Given the description of an element on the screen output the (x, y) to click on. 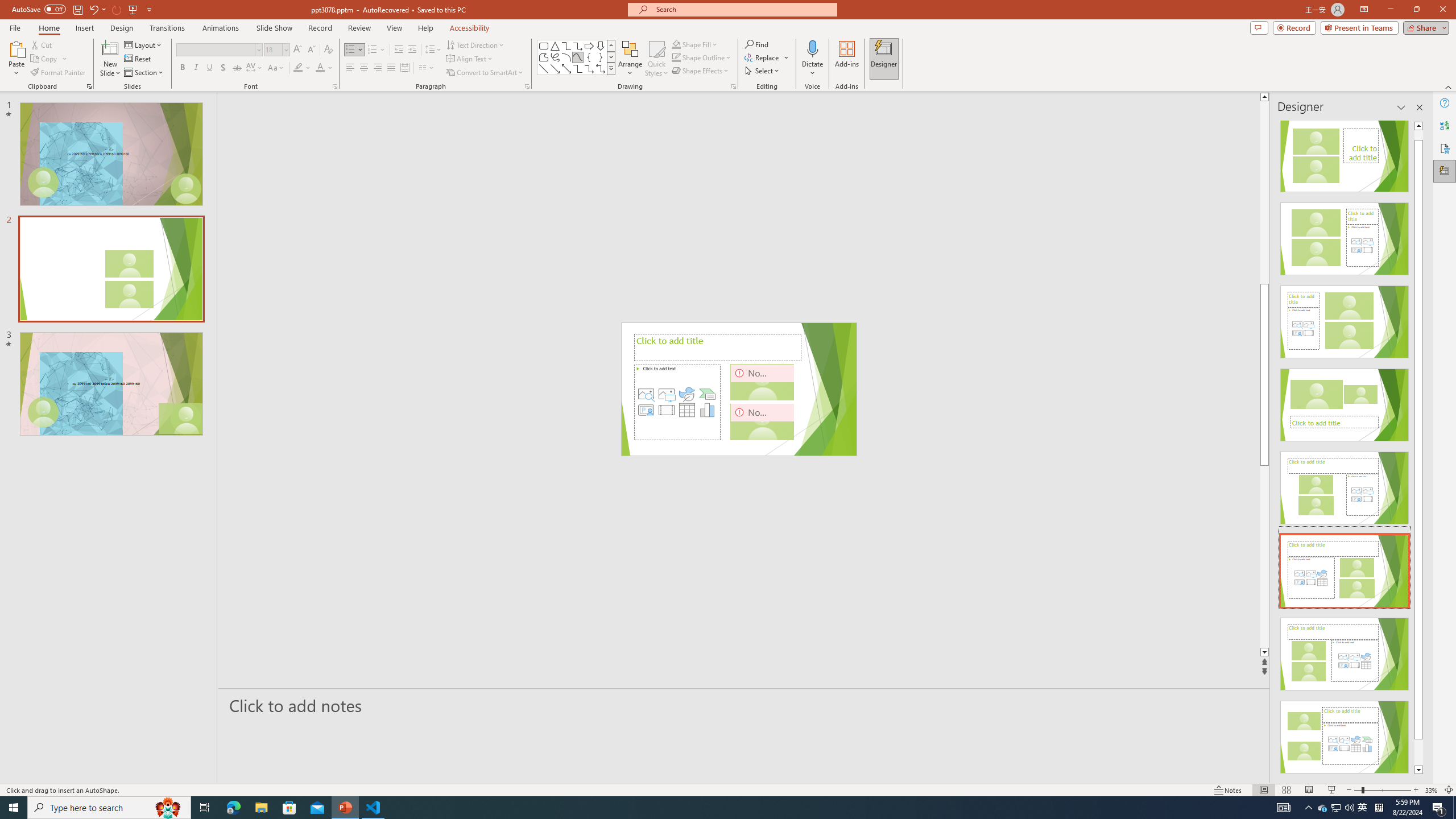
Shape Fill Dark Green, Accent 2 (675, 44)
Camera 5, No camera detected. (761, 382)
